Given the description of an element on the screen output the (x, y) to click on. 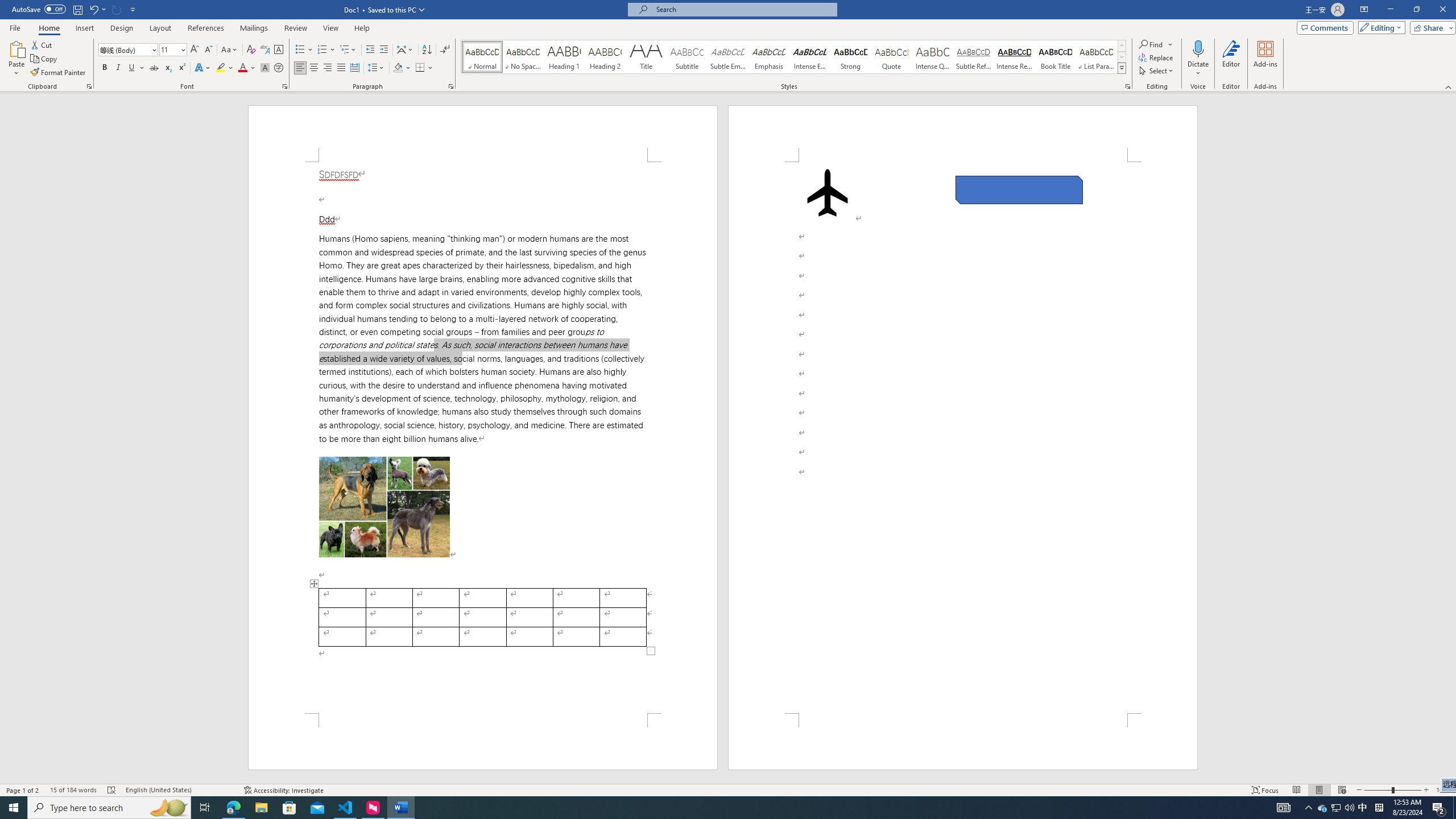
Strong (849, 56)
Align Left (300, 67)
Page Number Page 1 of 2 (22, 790)
Grow Font (193, 49)
Shading RGB(0, 0, 0) (397, 67)
Page 2 content (963, 437)
Justify (340, 67)
